Given the description of an element on the screen output the (x, y) to click on. 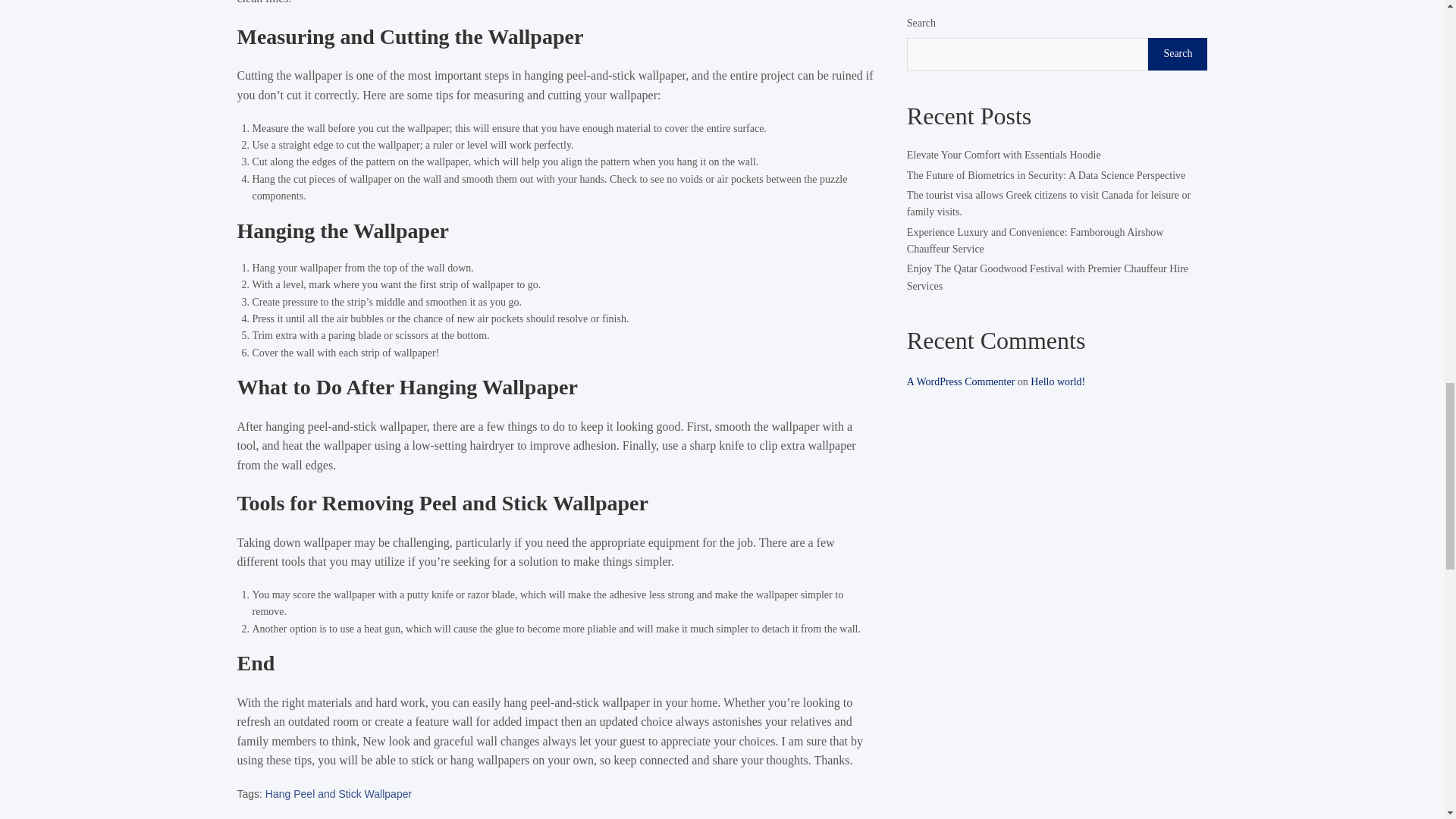
Hang Peel and Stick Wallpaper (338, 793)
